Given the description of an element on the screen output the (x, y) to click on. 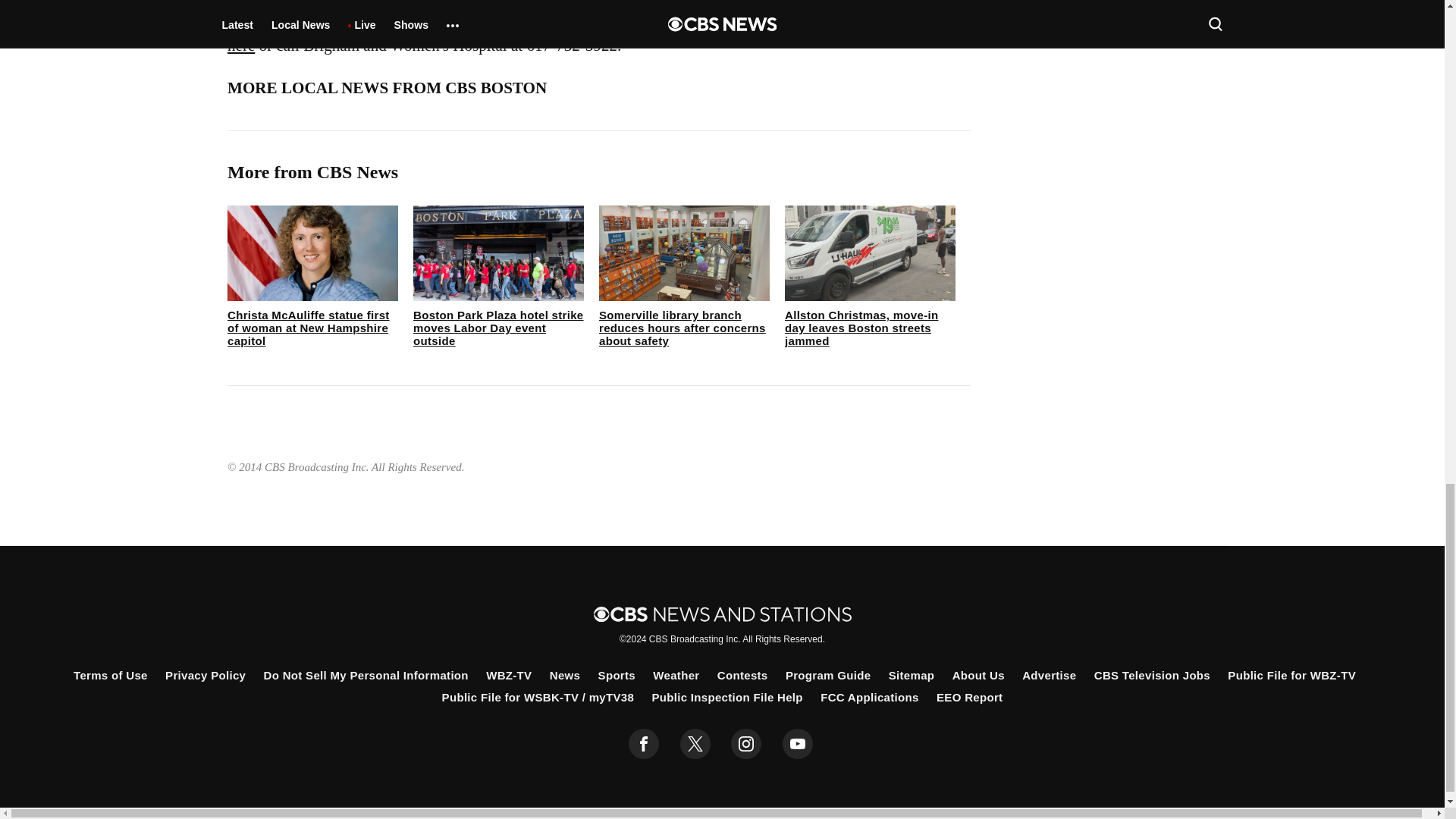
instagram (745, 743)
youtube (797, 743)
twitter (694, 743)
facebook (643, 743)
